Given the description of an element on the screen output the (x, y) to click on. 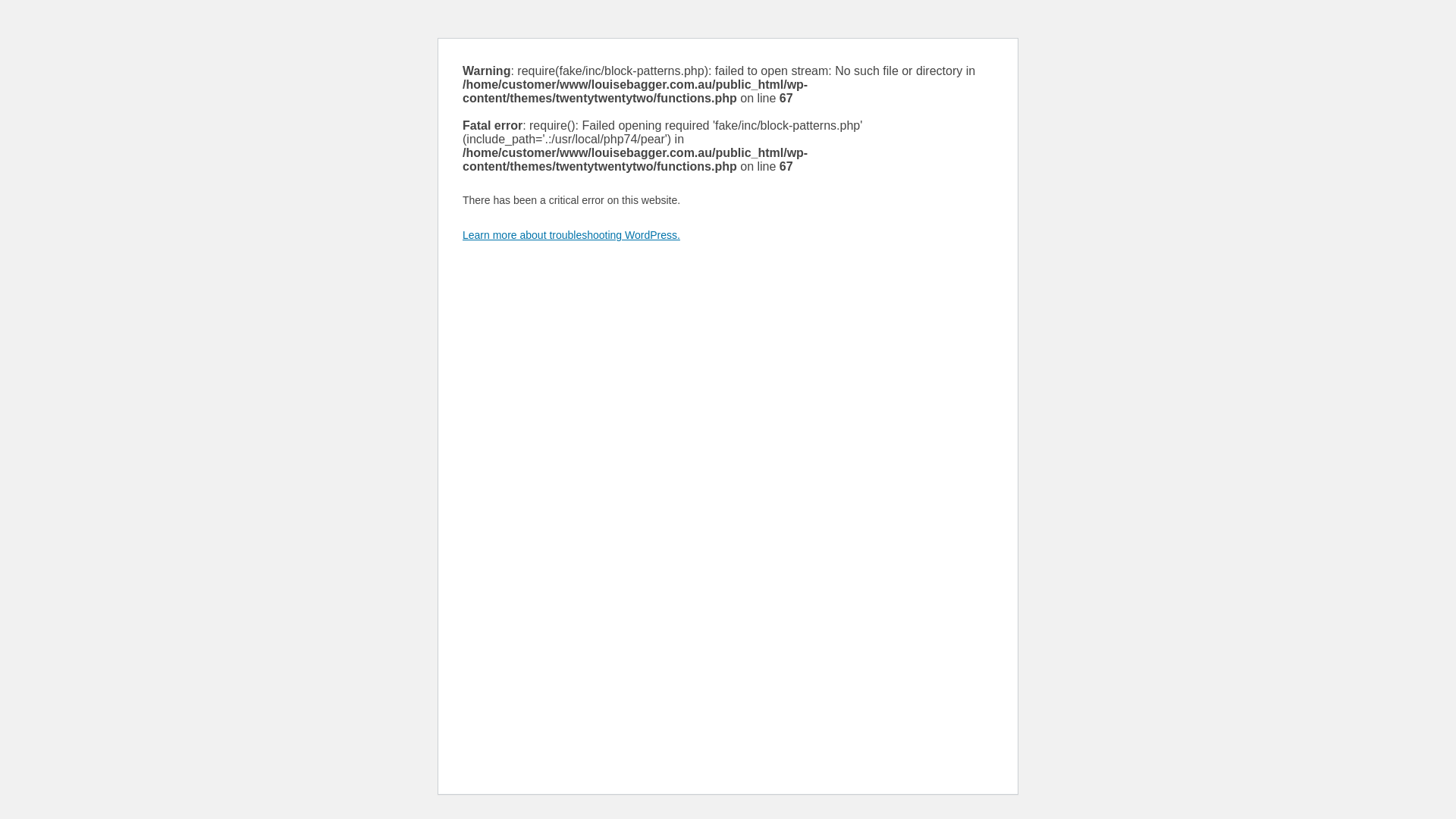
Learn more about troubleshooting WordPress. Element type: text (571, 235)
